Given the description of an element on the screen output the (x, y) to click on. 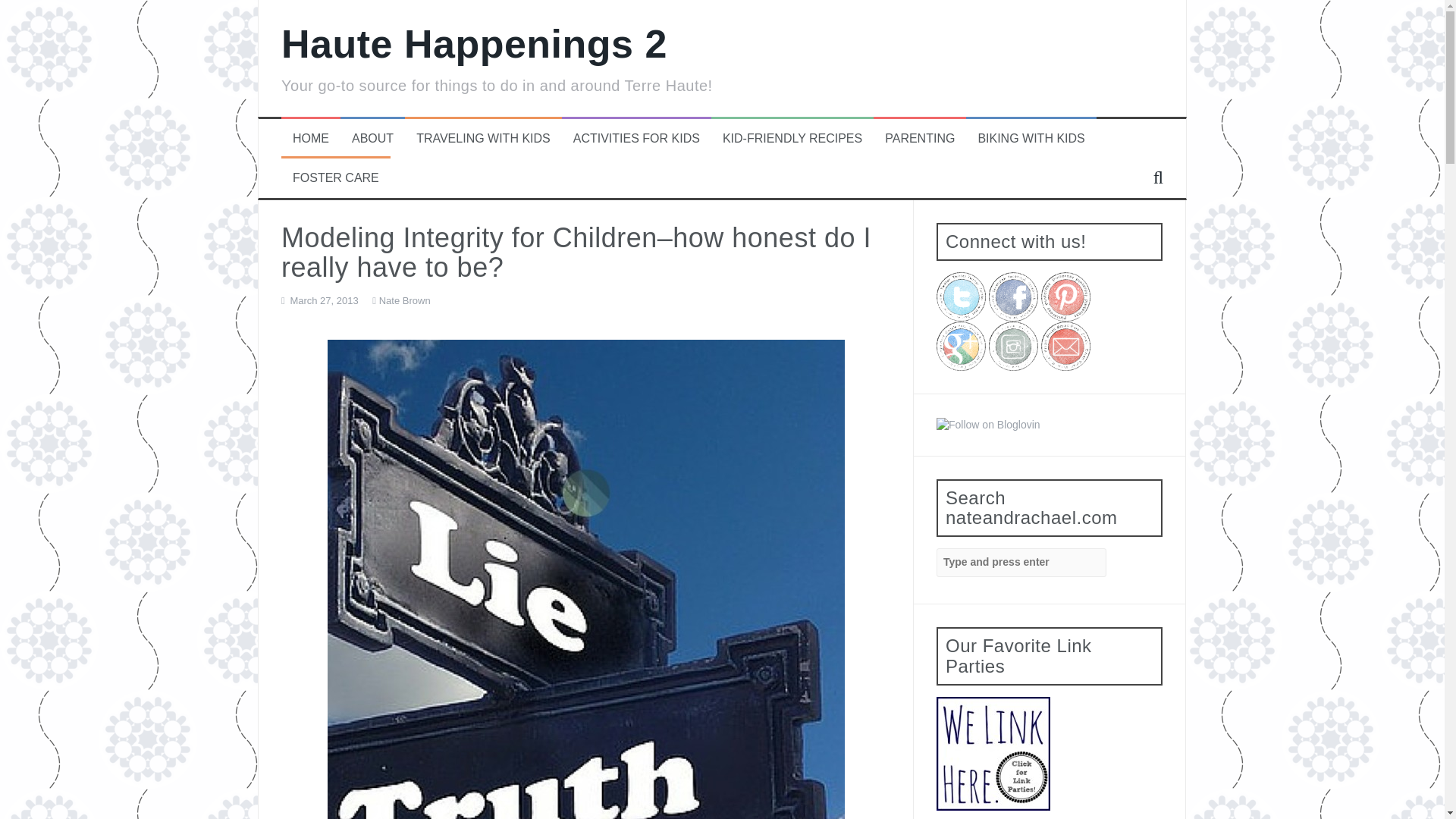
PARENTING (920, 139)
Follow Nothing if Not Intentional on Bloglovin (988, 423)
 See more on Instagram (1013, 346)
March 27, 2013 (323, 300)
TRAVELING WITH KIDS (483, 139)
Haute Happenings 2 (473, 44)
HOME (310, 139)
Are you obsessed with pinterest, too? (1065, 296)
BIKING WITH KIDS (1030, 139)
ABOUT (372, 139)
Join the conversation on facebook (1013, 296)
FOSTER CARE (335, 178)
ACTIVITIES FOR KIDS (636, 139)
KID-FRIENDLY RECIPES (791, 139)
Tweet with us on Twitter (960, 296)
